Given the description of an element on the screen output the (x, y) to click on. 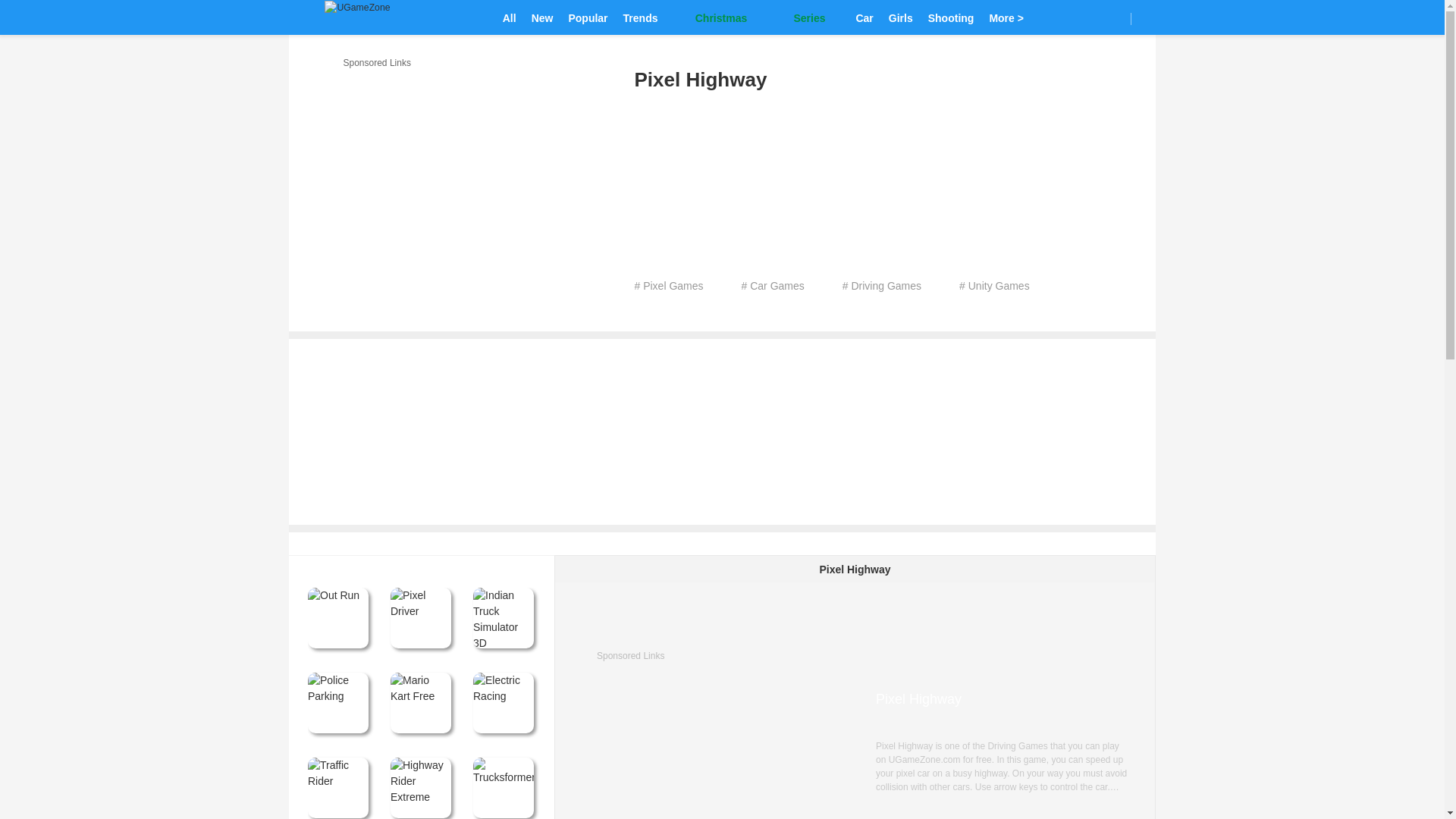
Indian Truck Simulator 3D (503, 618)
Series (800, 17)
New Games (542, 17)
Out Run (337, 618)
Series (800, 17)
Girls (900, 17)
Traffic Rider  (337, 787)
Pixel Driver (420, 618)
New (542, 17)
UGameZone (357, 18)
Mario Kart Free (420, 702)
Trends (640, 17)
Popular (587, 17)
Car Games (863, 17)
Christmas (713, 17)
